Given the description of an element on the screen output the (x, y) to click on. 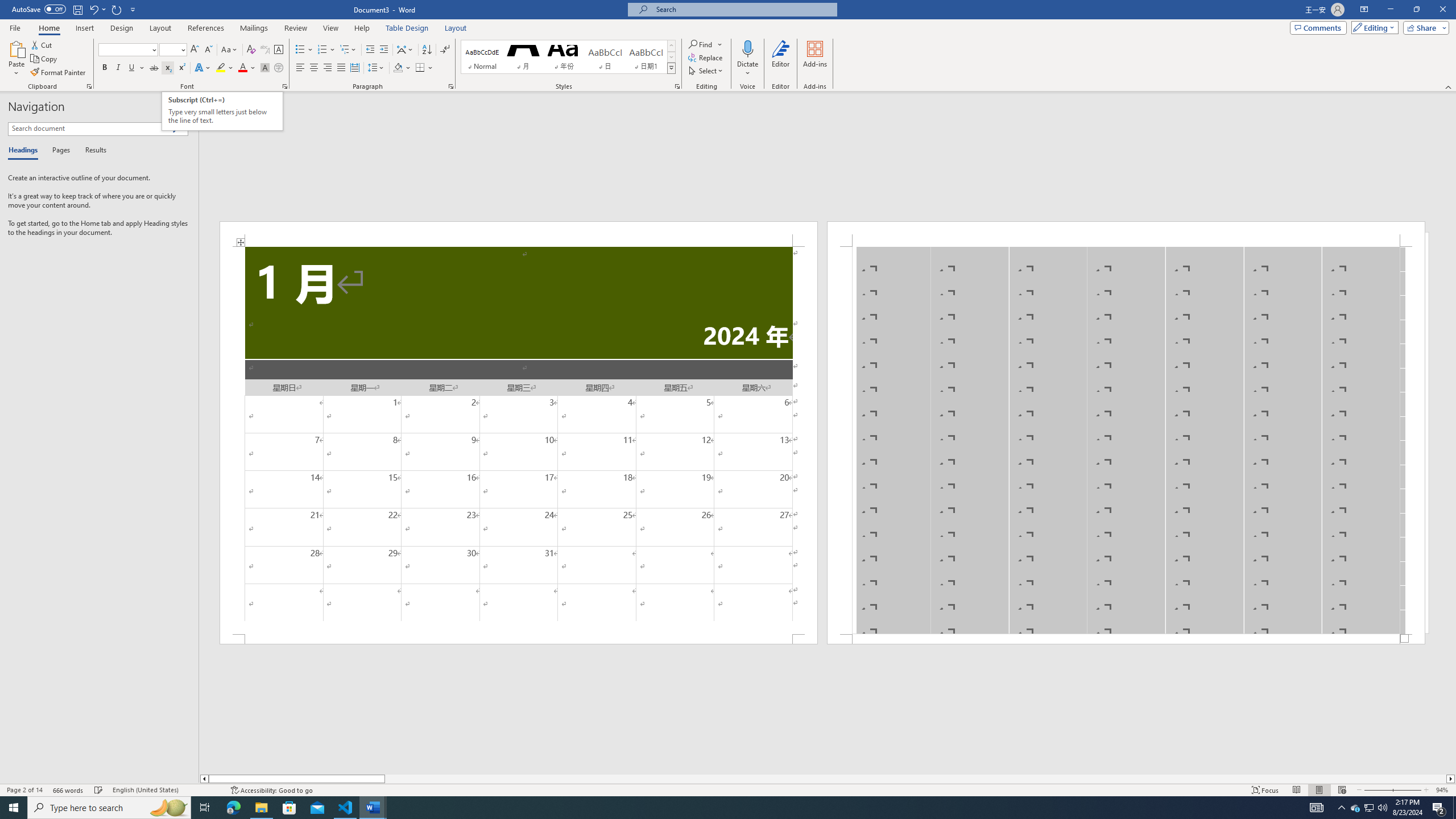
Format Painter (58, 72)
Undo Shrink Font (92, 9)
Enclose Characters... (278, 67)
Phonetic Guide... (264, 49)
Column left (203, 778)
Microsoft search (742, 9)
Align Left (300, 67)
AutomationID: QuickStylesGallery (568, 56)
